Given the description of an element on the screen output the (x, y) to click on. 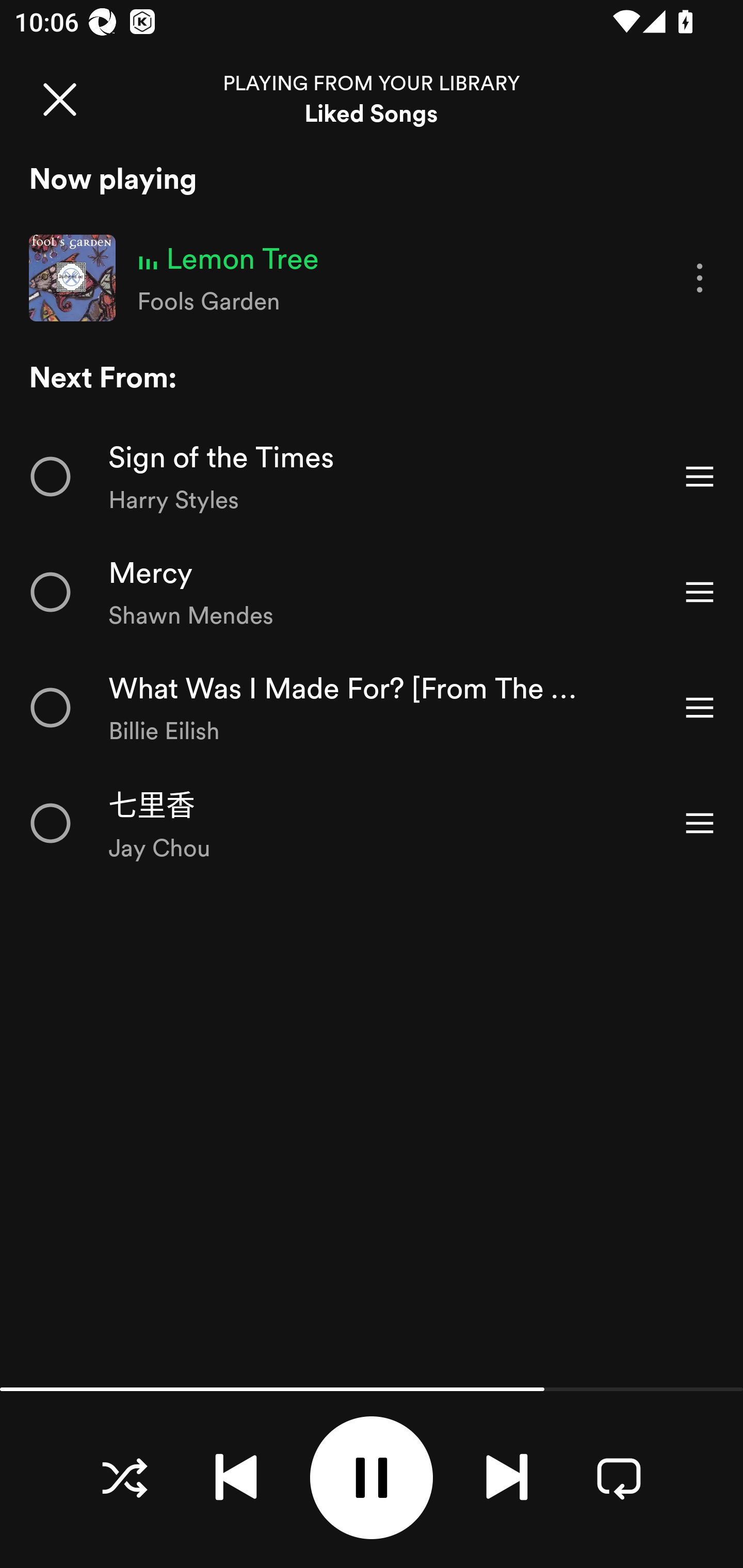
Close (59, 99)
PLAYING FROM YOUR LIBRARY Liked Songs (371, 99)
More options for song Lemon Tree (699, 278)
Sign of the Times Harry Styles Reorder track (371, 476)
Mercy Shawn Mendes Reorder track (371, 591)
七里香 Jay Chou Reorder track (371, 823)
Pause (371, 1477)
Previous (235, 1477)
Next (507, 1477)
Choose a Listening Mode (123, 1477)
Repeat (618, 1477)
